Given the description of an element on the screen output the (x, y) to click on. 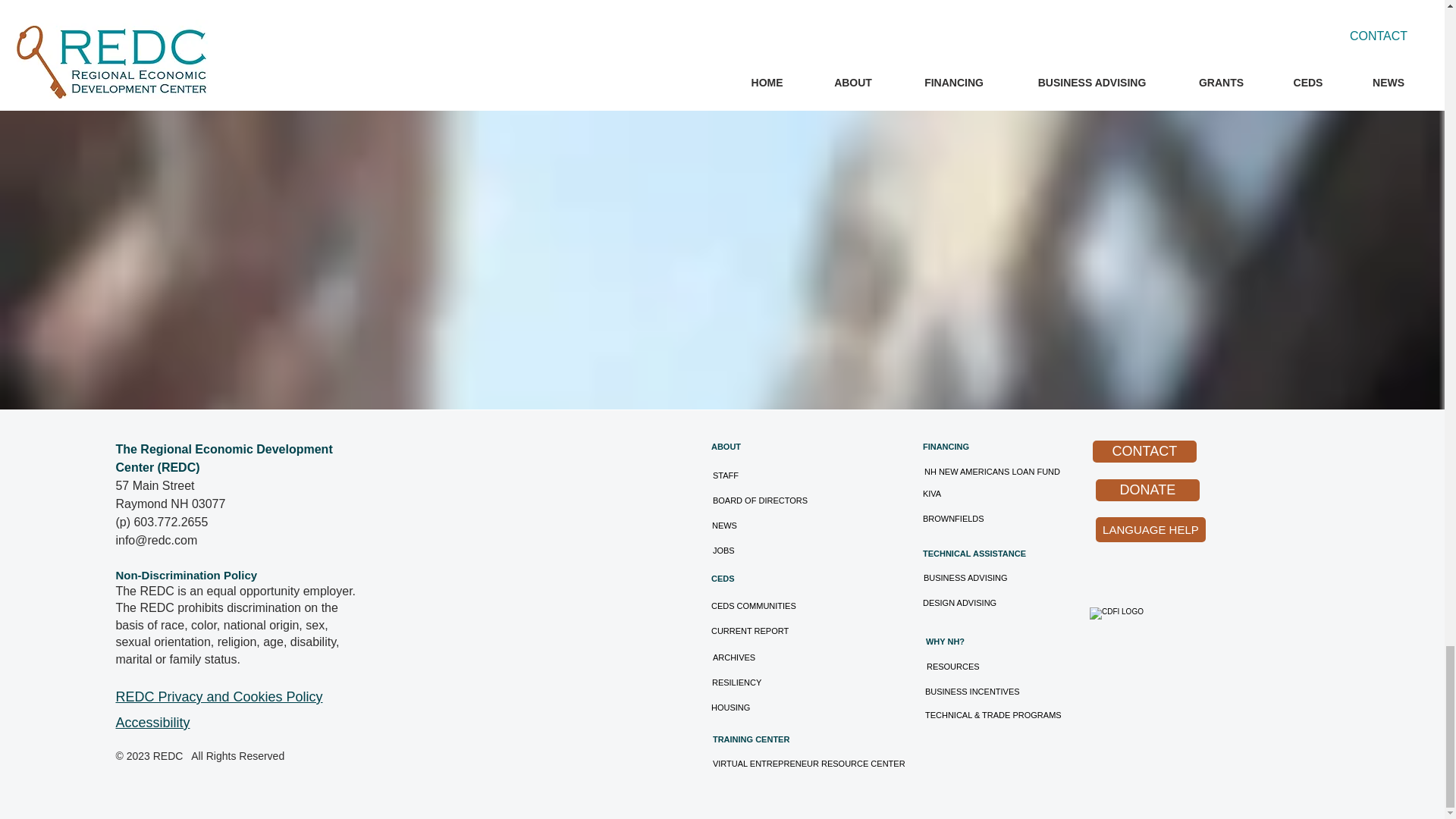
BOARD OF DIRECTORS (760, 500)
DESIGN ADVISING (964, 602)
FINANCING (963, 446)
WHY NH? (959, 641)
HOUSING (749, 707)
NH NEW AMERICANS LOAN FUND (1002, 471)
TECHNICAL ASSISTANCE (991, 553)
NEWS (736, 525)
REDC Privacy and Cookies Policy (218, 696)
   All Rights Reserved (233, 756)
STAFF (733, 475)
BROWNFIELDS (953, 518)
CONTACT (1144, 451)
KIVA (957, 493)
ABOUT (735, 446)
